Given the description of an element on the screen output the (x, y) to click on. 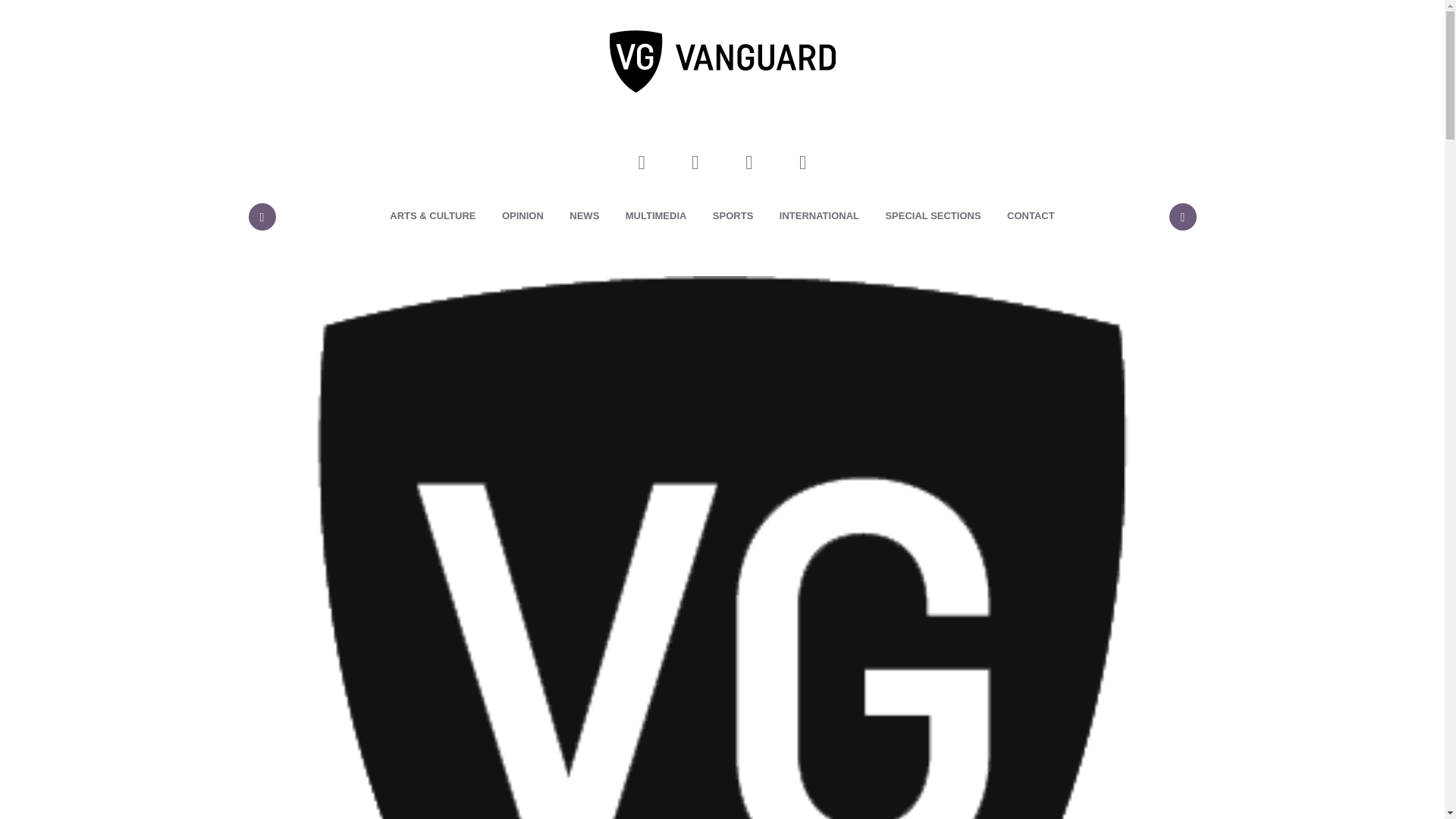
OPINION (522, 215)
SPORTS (732, 215)
NEWS (583, 215)
MULTIMEDIA (656, 215)
INTERNATIONAL (819, 215)
CONTACT (1030, 215)
SPECIAL SECTIONS (932, 215)
